Given the description of an element on the screen output the (x, y) to click on. 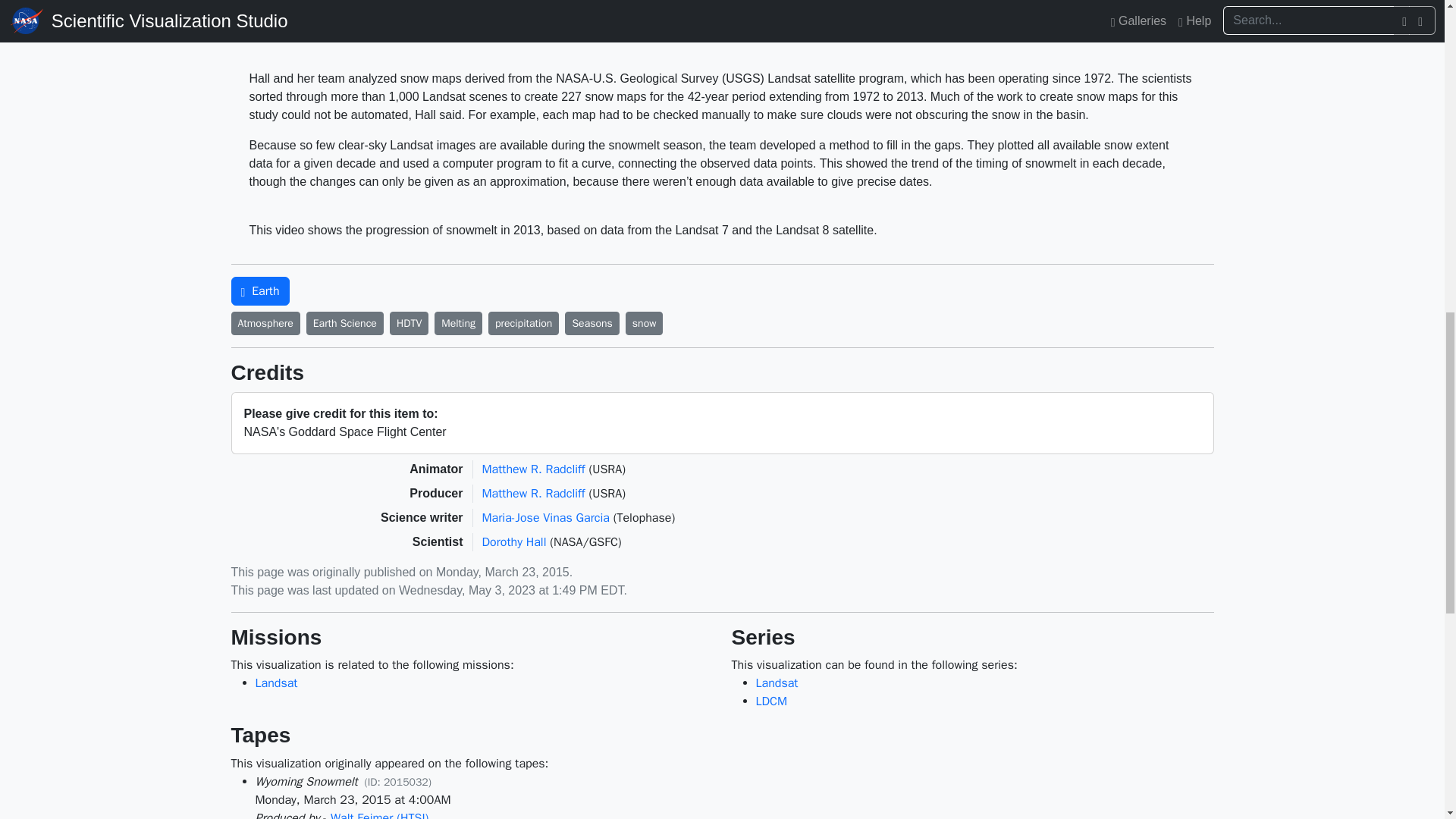
precipitation (523, 323)
Seasons (591, 323)
Earth (259, 290)
HDTV (409, 323)
Matthew R. Radcliff (533, 468)
Atmosphere (264, 323)
Earth Science (344, 323)
Melting (457, 323)
snow (644, 323)
